Given the description of an element on the screen output the (x, y) to click on. 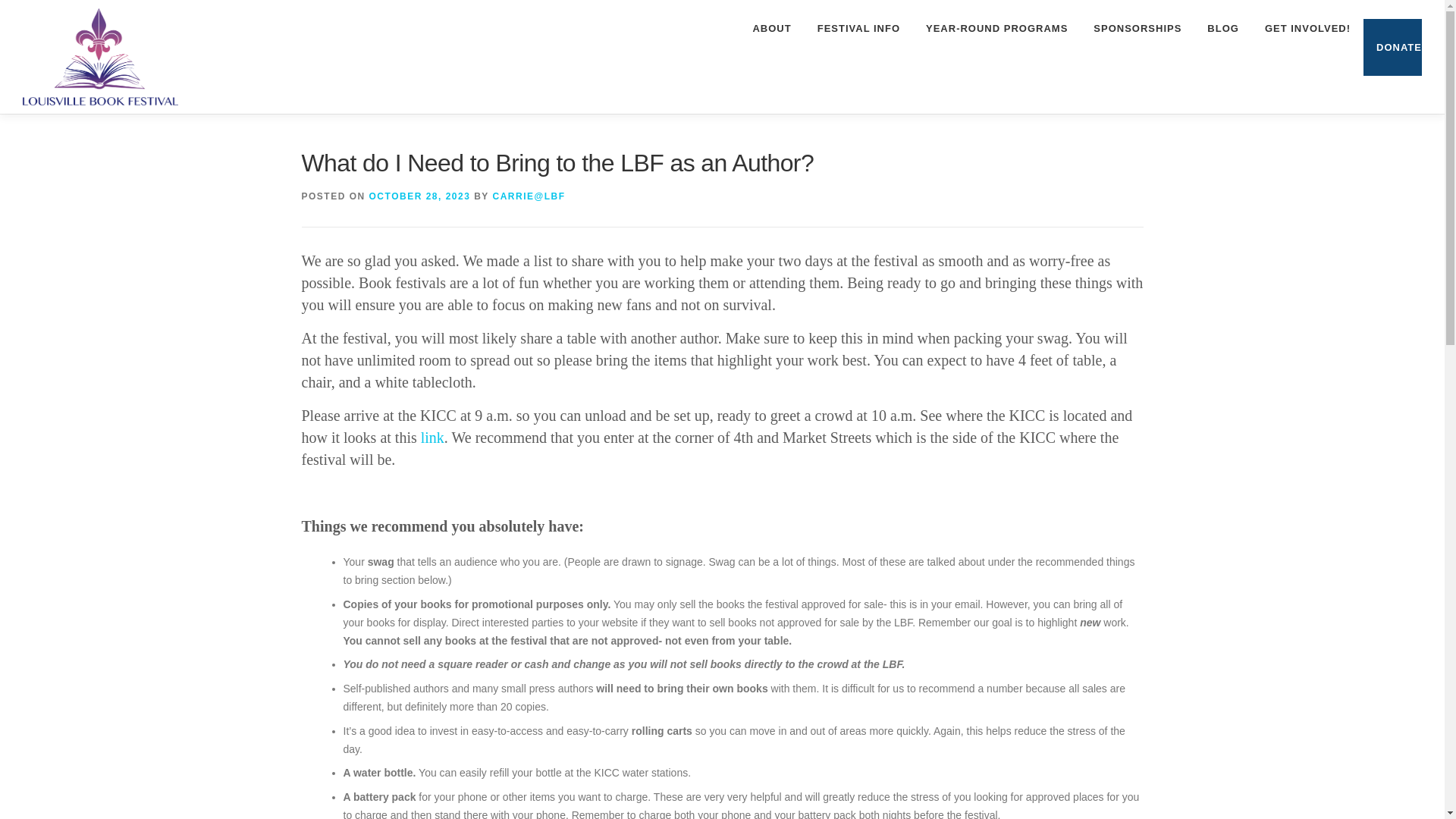
FESTIVAL INFO (858, 28)
ABOUT (771, 28)
link (432, 437)
OCTOBER 28, 2023 (419, 195)
DONATE (1392, 47)
YEAR-ROUND PROGRAMS (996, 28)
SPONSORSHIPS (1136, 28)
BLOG (1222, 28)
GET INVOLVED! (1307, 28)
